Given the description of an element on the screen output the (x, y) to click on. 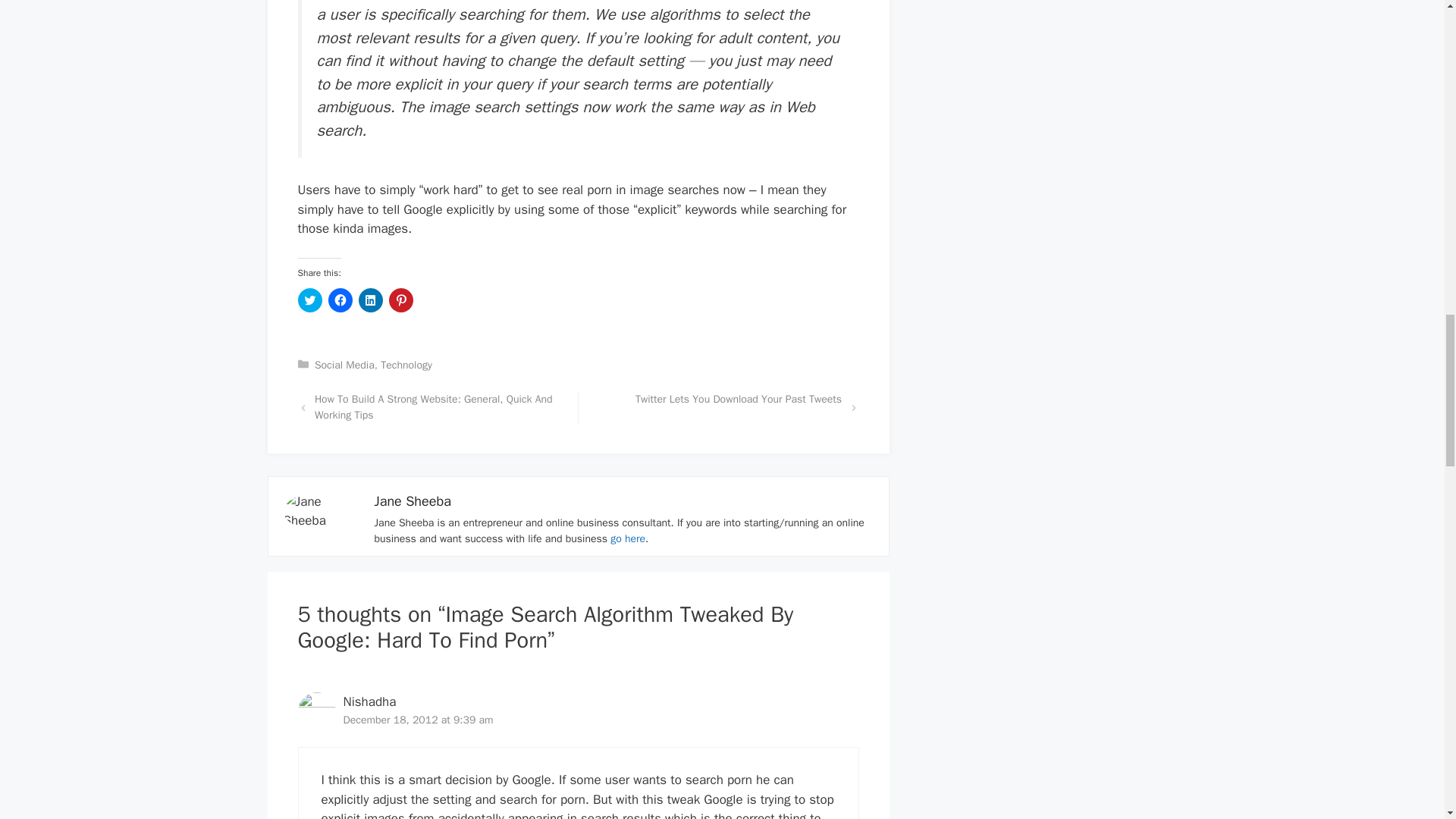
Jane Sheeba (412, 501)
Click to share on LinkedIn (369, 300)
Technology (406, 364)
Click to share on Facebook (339, 300)
Click to share on Twitter (309, 300)
Click to share on Pinterest (400, 300)
Twitter Lets You Download Your Past Tweets (737, 399)
December 18, 2012 at 9:39 am (417, 719)
Social Media (344, 364)
